Given the description of an element on the screen output the (x, y) to click on. 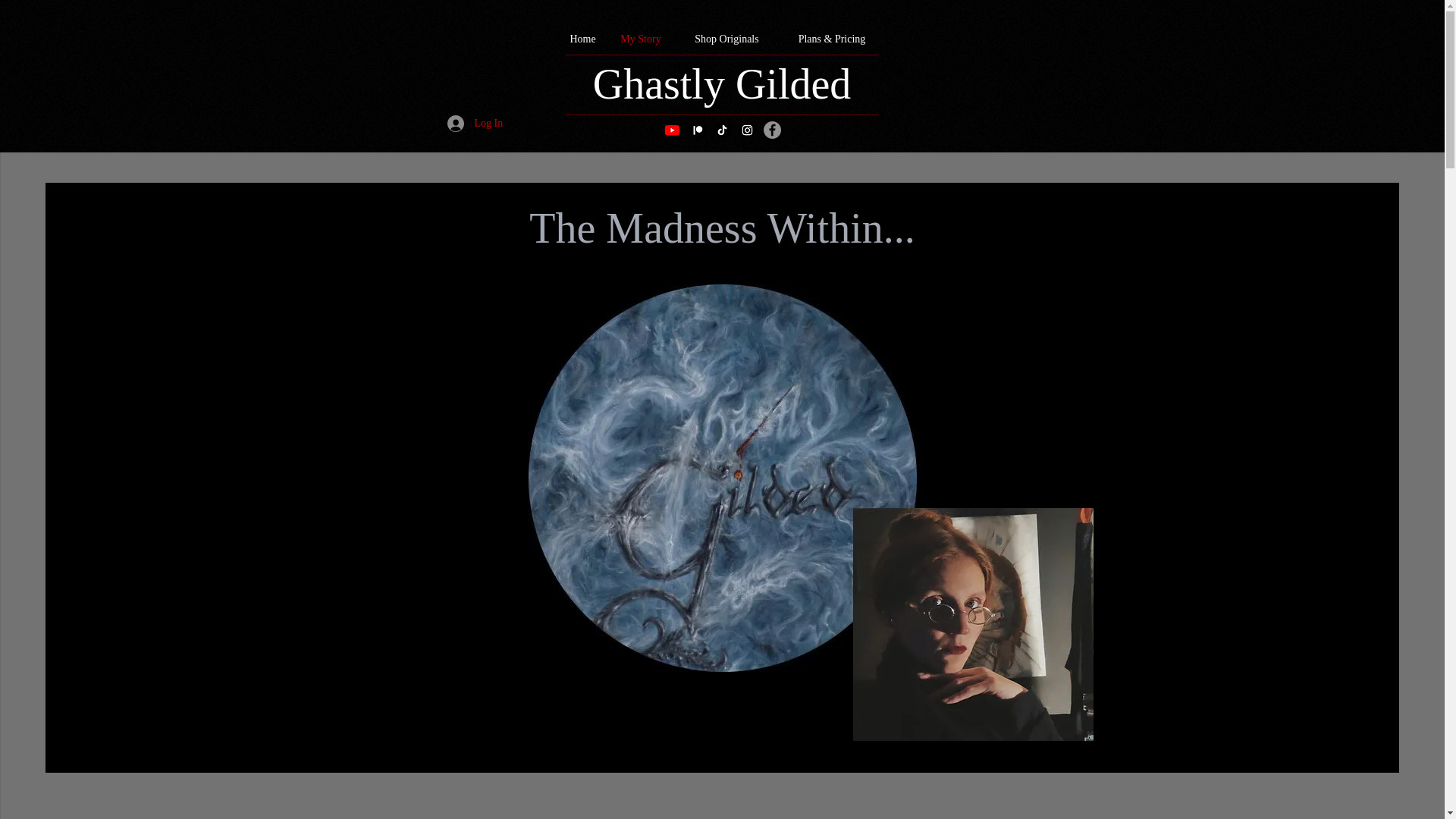
Ghastly Gilded (721, 83)
Log In (467, 123)
Shop Originals (726, 38)
Home (583, 38)
My Story (641, 38)
